Given the description of an element on the screen output the (x, y) to click on. 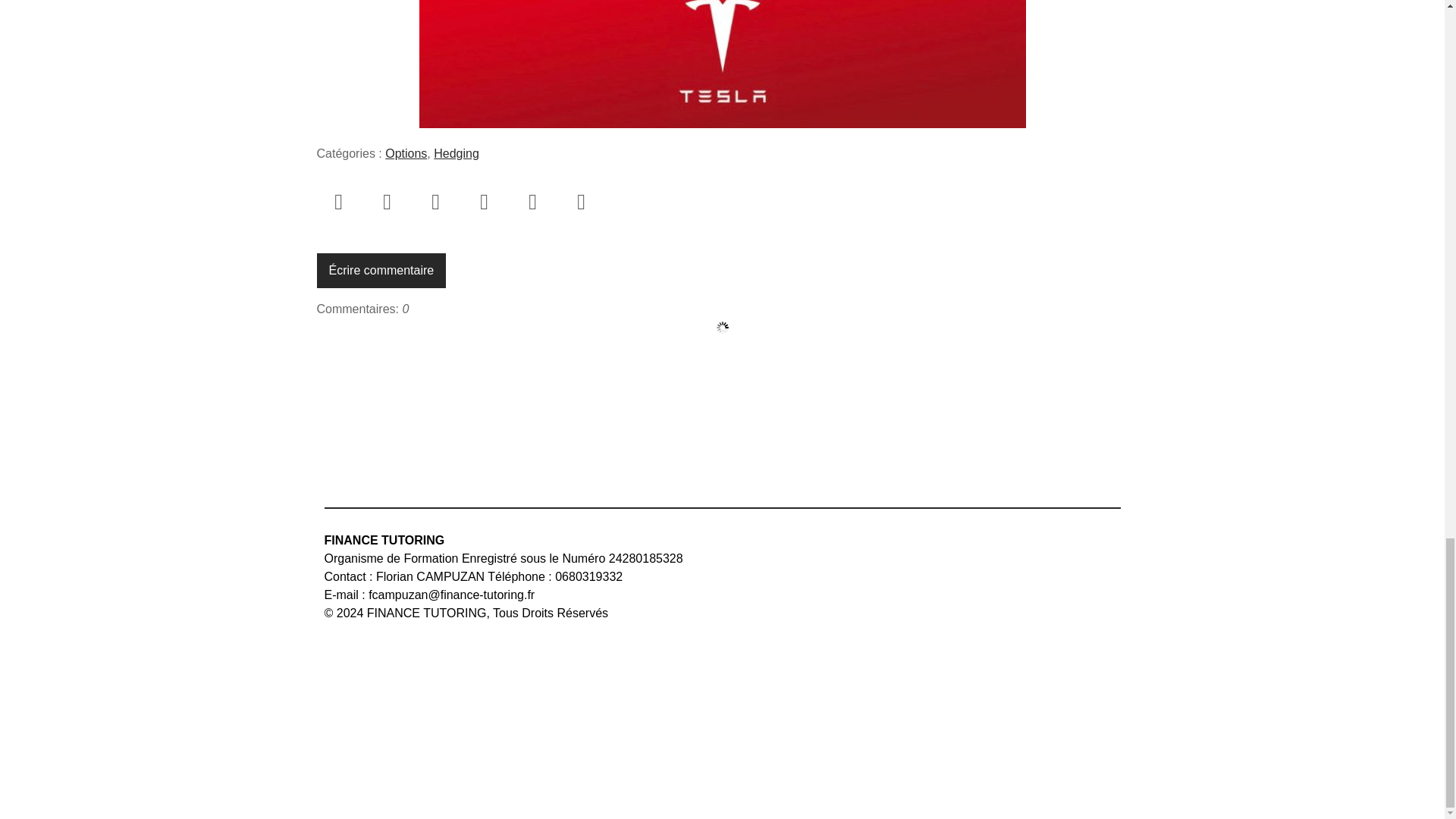
LinkedIn (484, 201)
Facebook (339, 201)
E-mail (435, 201)
Tumblr (532, 201)
Twitter (387, 201)
Reddit (581, 201)
